Given the description of an element on the screen output the (x, y) to click on. 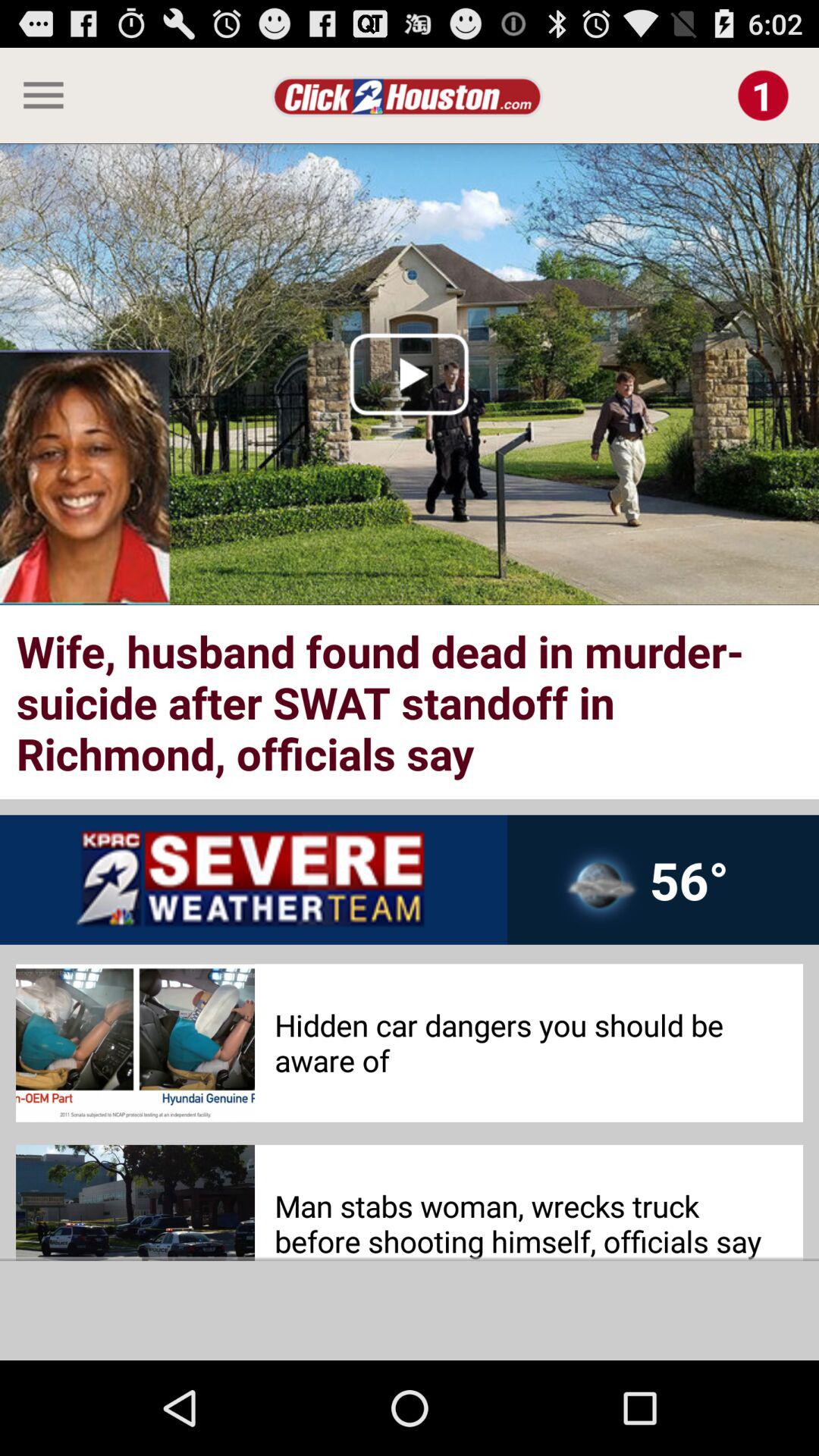
click on the first video from the bottom at bottom left (134, 1202)
select the image on left to the text 56 degrees on the web page (599, 890)
